Given the description of an element on the screen output the (x, y) to click on. 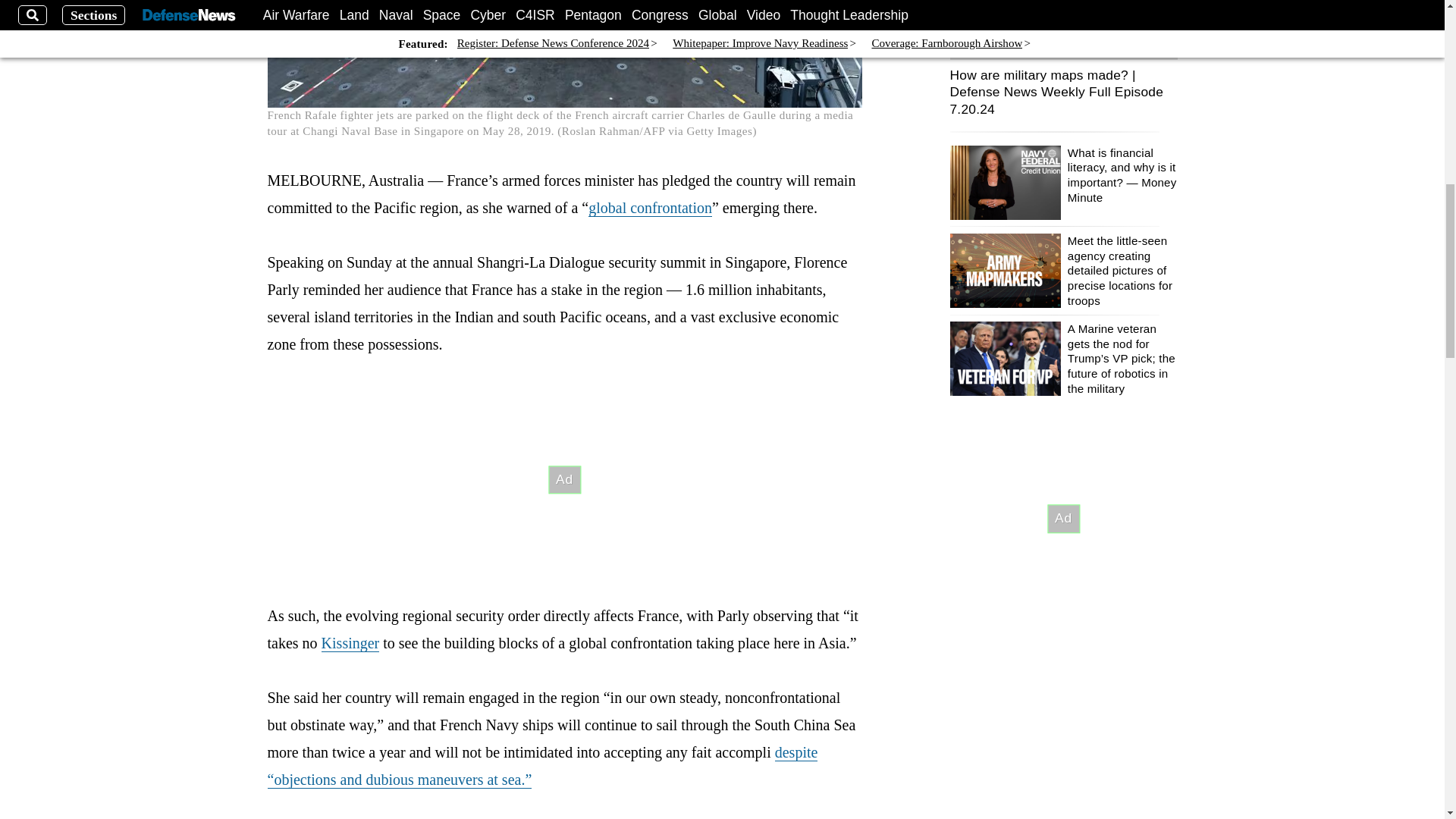
3rd party ad content (563, 479)
3rd party ad content (1062, 518)
